Given the description of an element on the screen output the (x, y) to click on. 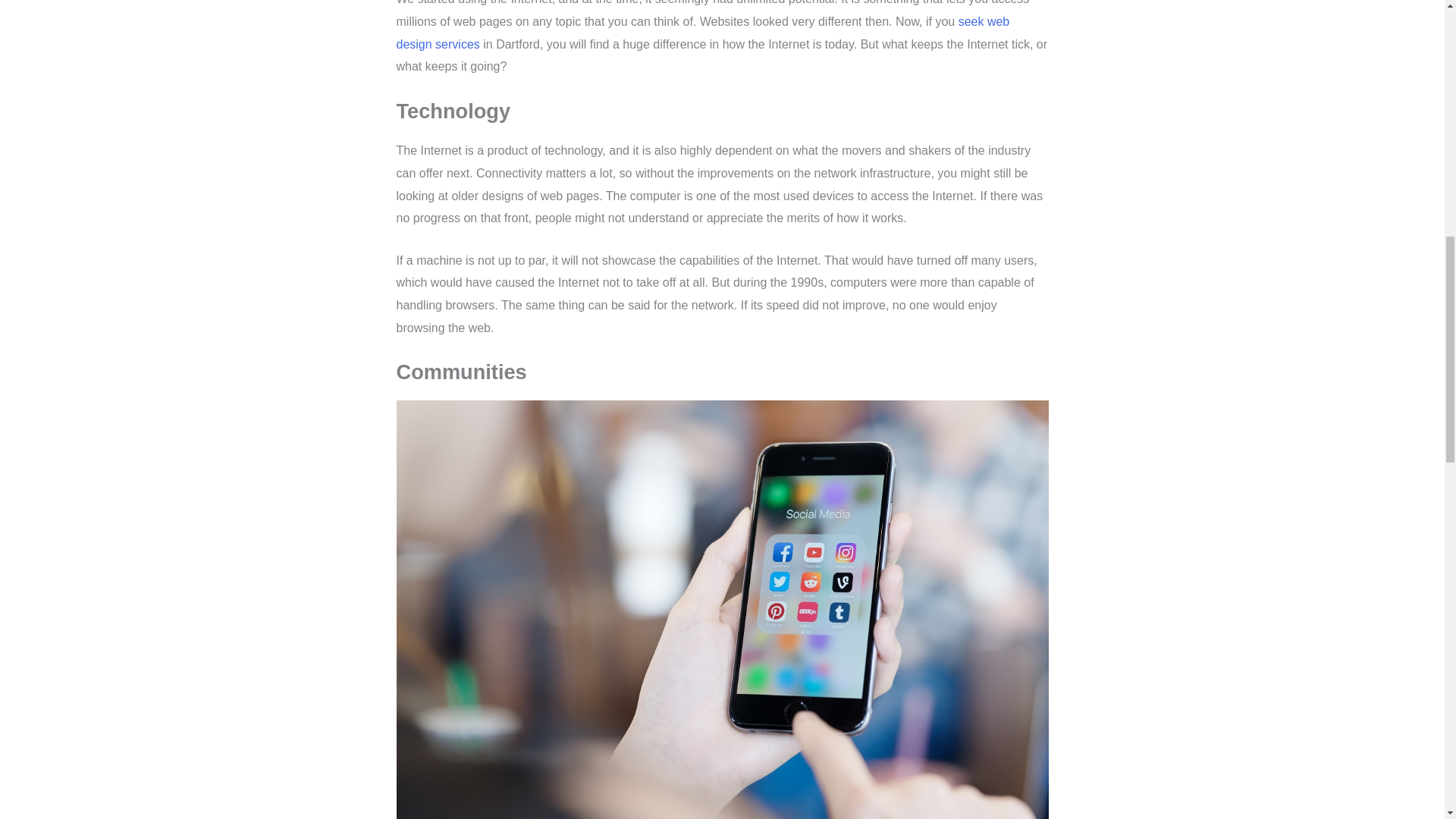
Vaccoda LTD (702, 32)
seek web design services (702, 32)
